Given the description of an element on the screen output the (x, y) to click on. 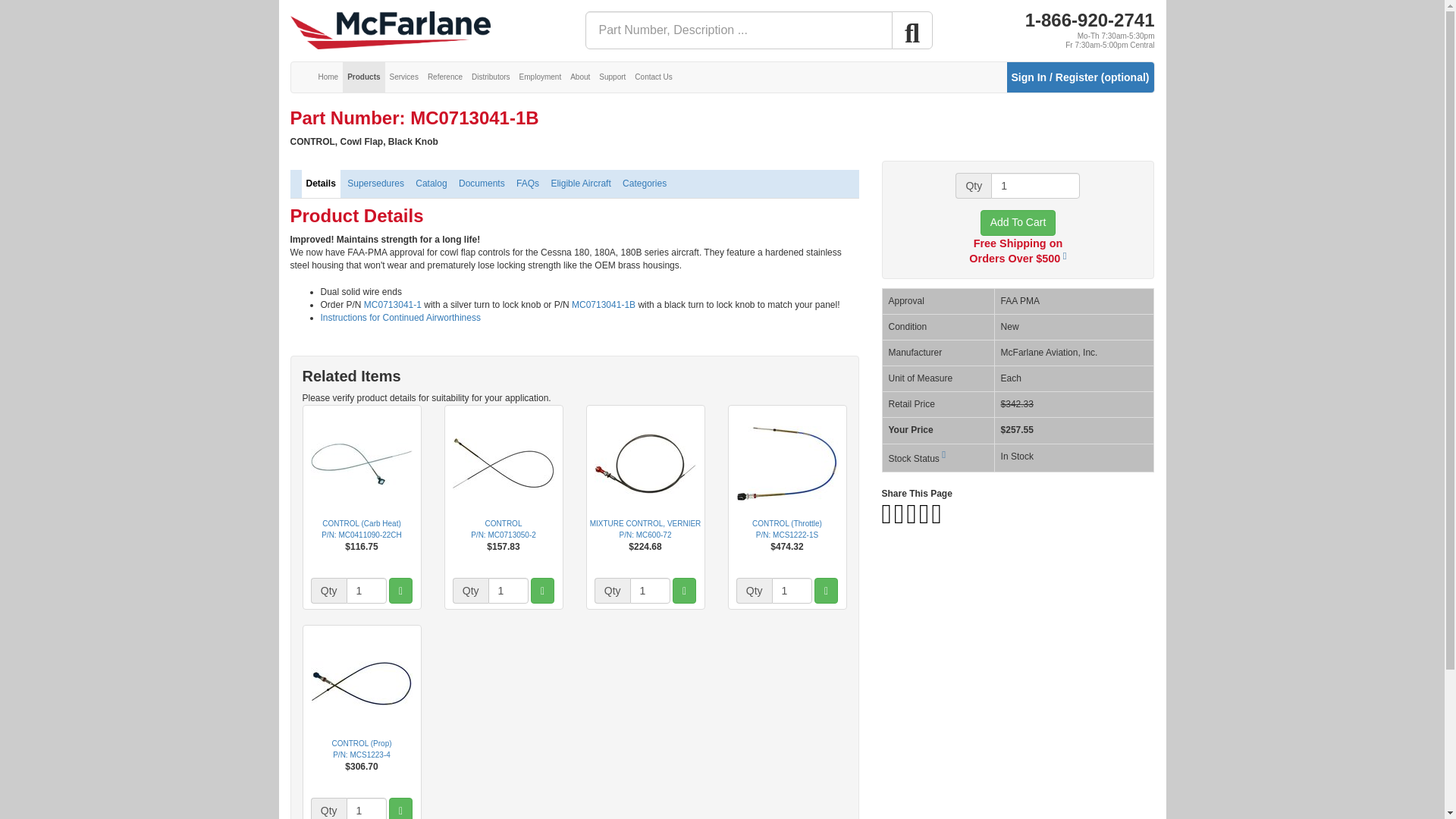
Categories (644, 183)
Add To Cart (1018, 222)
Reference (445, 77)
Details (320, 183)
Documents (481, 183)
Products (363, 77)
1 (507, 590)
Distributors (491, 77)
1 (366, 590)
Contact Us (653, 77)
